Given the description of an element on the screen output the (x, y) to click on. 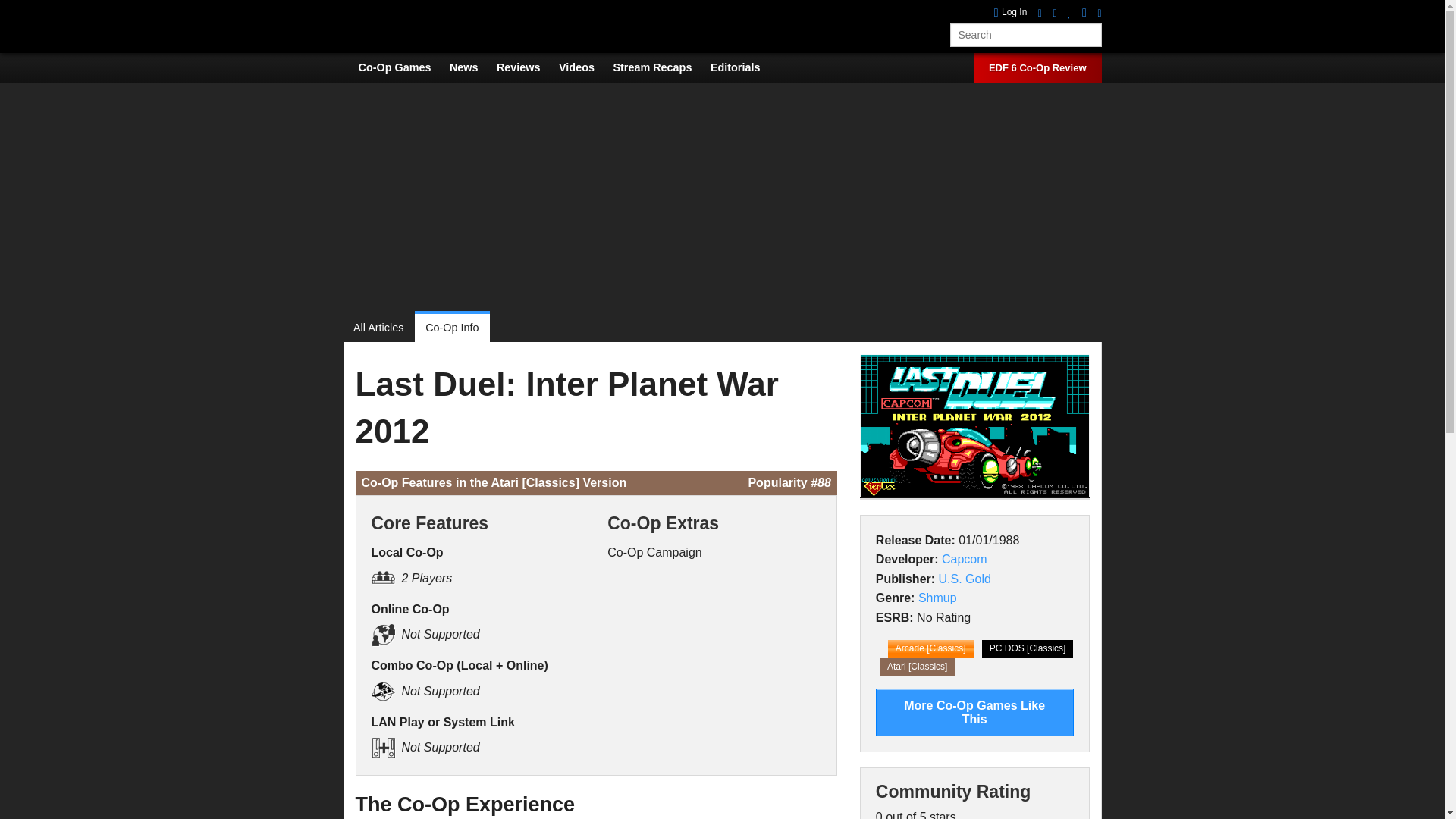
EDF 6 Co-Op Review (1037, 67)
Shmup (937, 597)
Co-Op Games (401, 67)
 Log In (1010, 11)
News (471, 67)
Stream Recaps (659, 67)
Capcom (964, 558)
Co-Op Info (451, 327)
Reviews (526, 67)
Videos (584, 67)
